Given the description of an element on the screen output the (x, y) to click on. 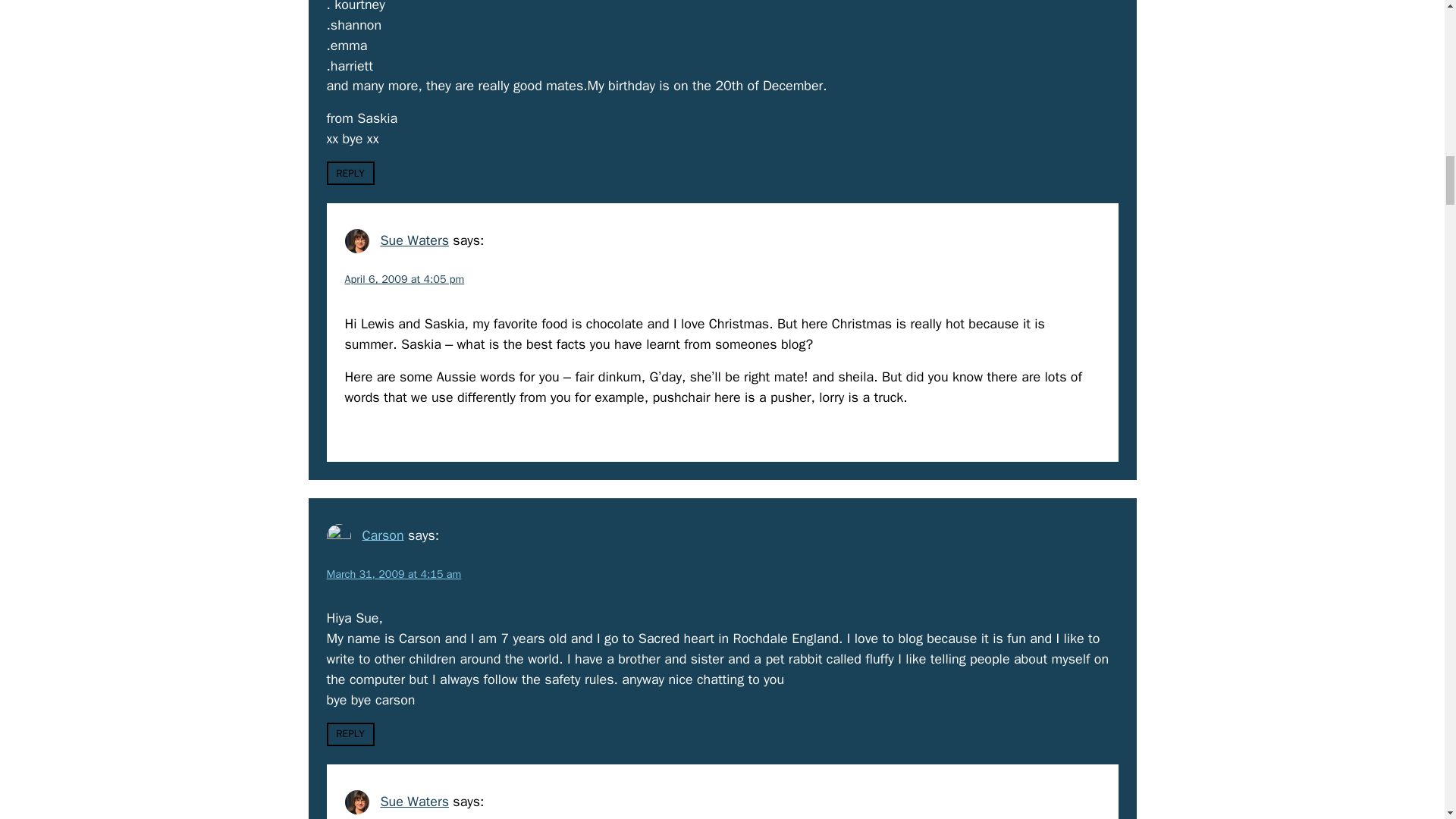
REPLY (367, 431)
REPLY (350, 173)
Sue Waters (414, 801)
March 31, 2009 at 4:15 am (393, 573)
April 6, 2009 at 4:05 pm (403, 278)
Sue Waters (414, 239)
Carson (382, 534)
REPLY (350, 734)
